Given the description of an element on the screen output the (x, y) to click on. 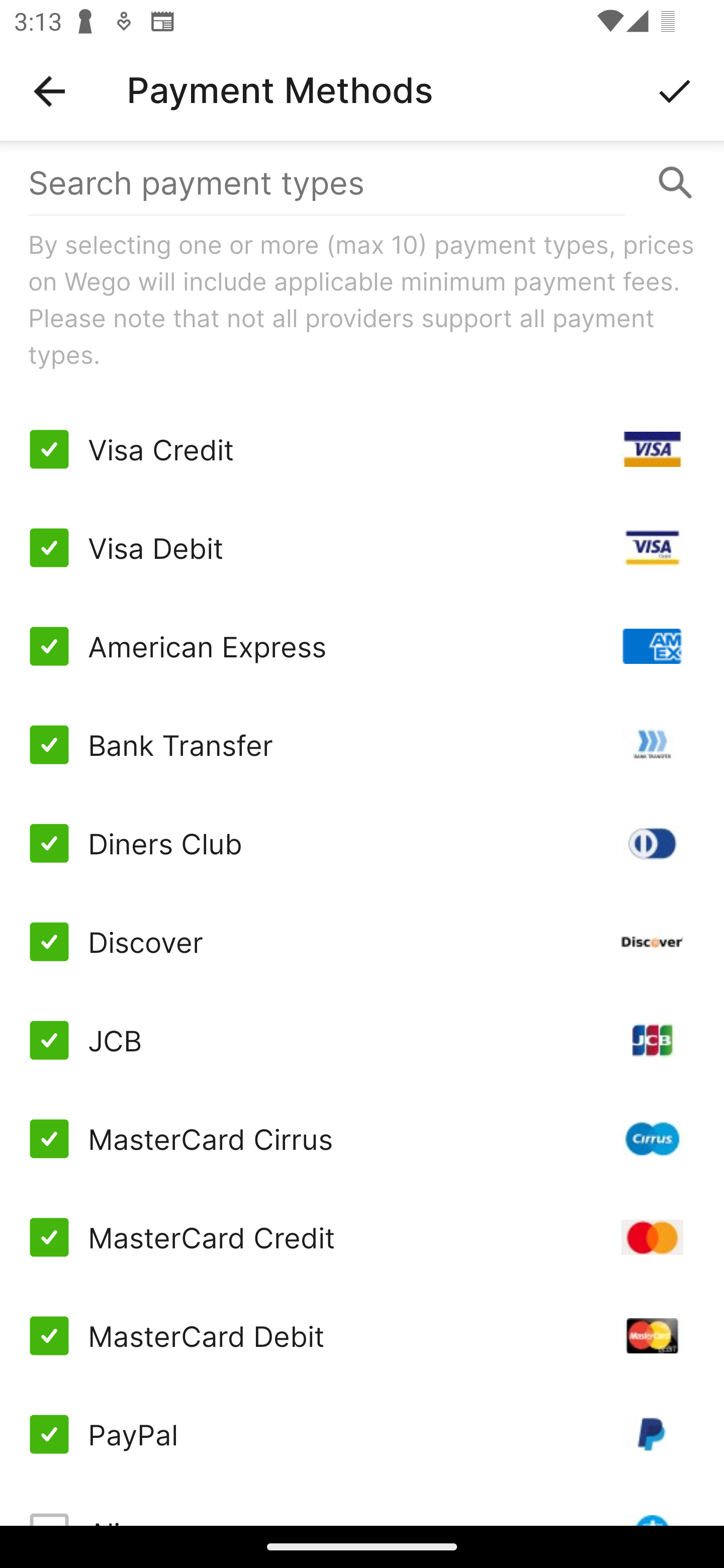
Search payment types  (361, 182)
Visa Credit (362, 448)
Visa Debit (362, 547)
American Express (362, 646)
Bank Transfer (362, 744)
Diners Club (362, 842)
Discover (362, 941)
JCB (362, 1039)
MasterCard Cirrus (362, 1138)
MasterCard Credit (362, 1237)
MasterCard Debit (362, 1335)
PayPal (362, 1433)
